Given the description of an element on the screen output the (x, y) to click on. 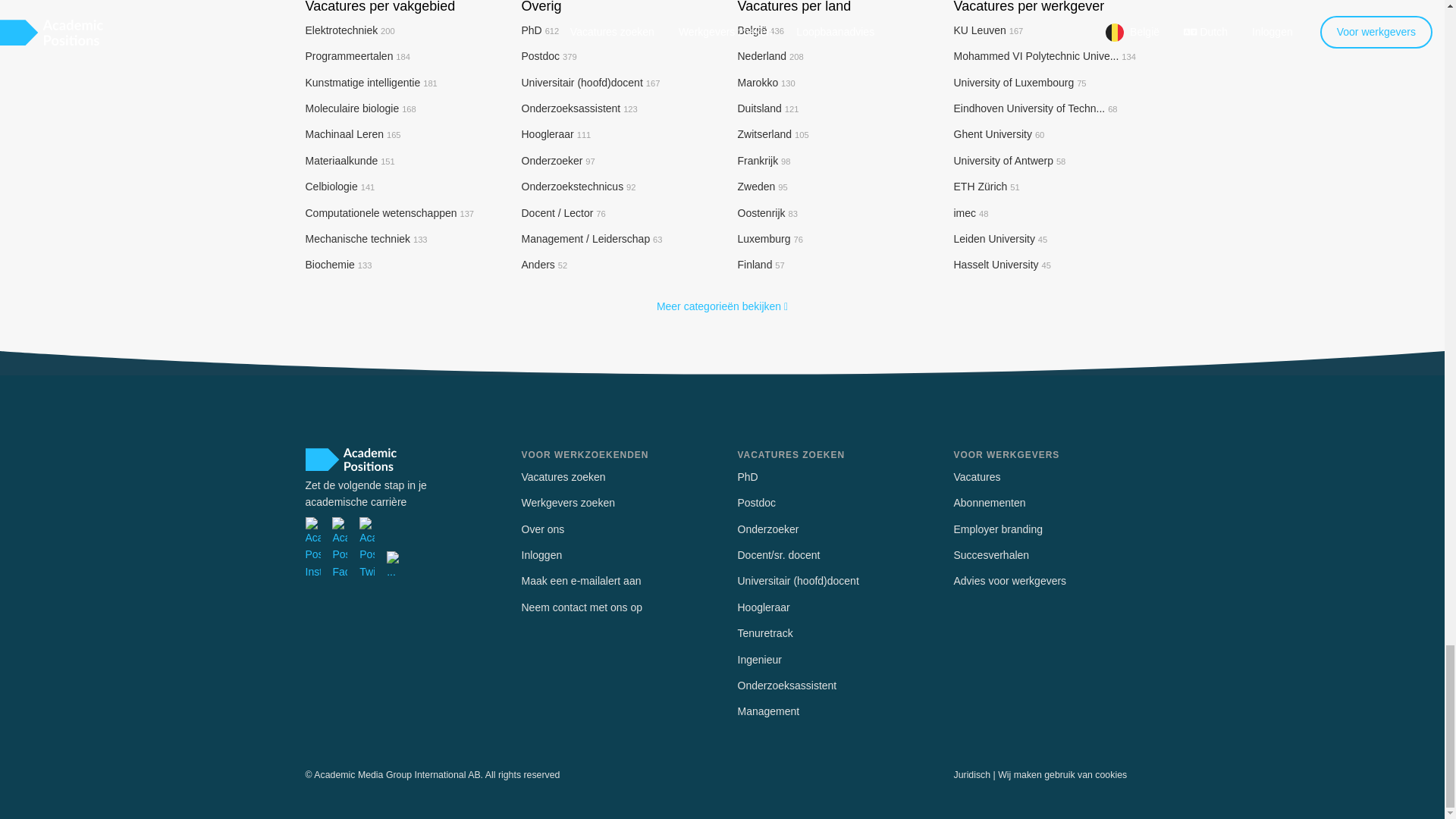
PhD (540, 30)
Materiaalkunde (349, 160)
Celbiologie (339, 186)
Kunstmatige intelligentie (370, 82)
Onderzoekstechnicus (578, 186)
Onderzoeksassistent (579, 108)
Postdoc (548, 55)
Machinaal Leren (352, 133)
Computationele wetenschappen (389, 213)
Onderzoeker (558, 160)
